Given the description of an element on the screen output the (x, y) to click on. 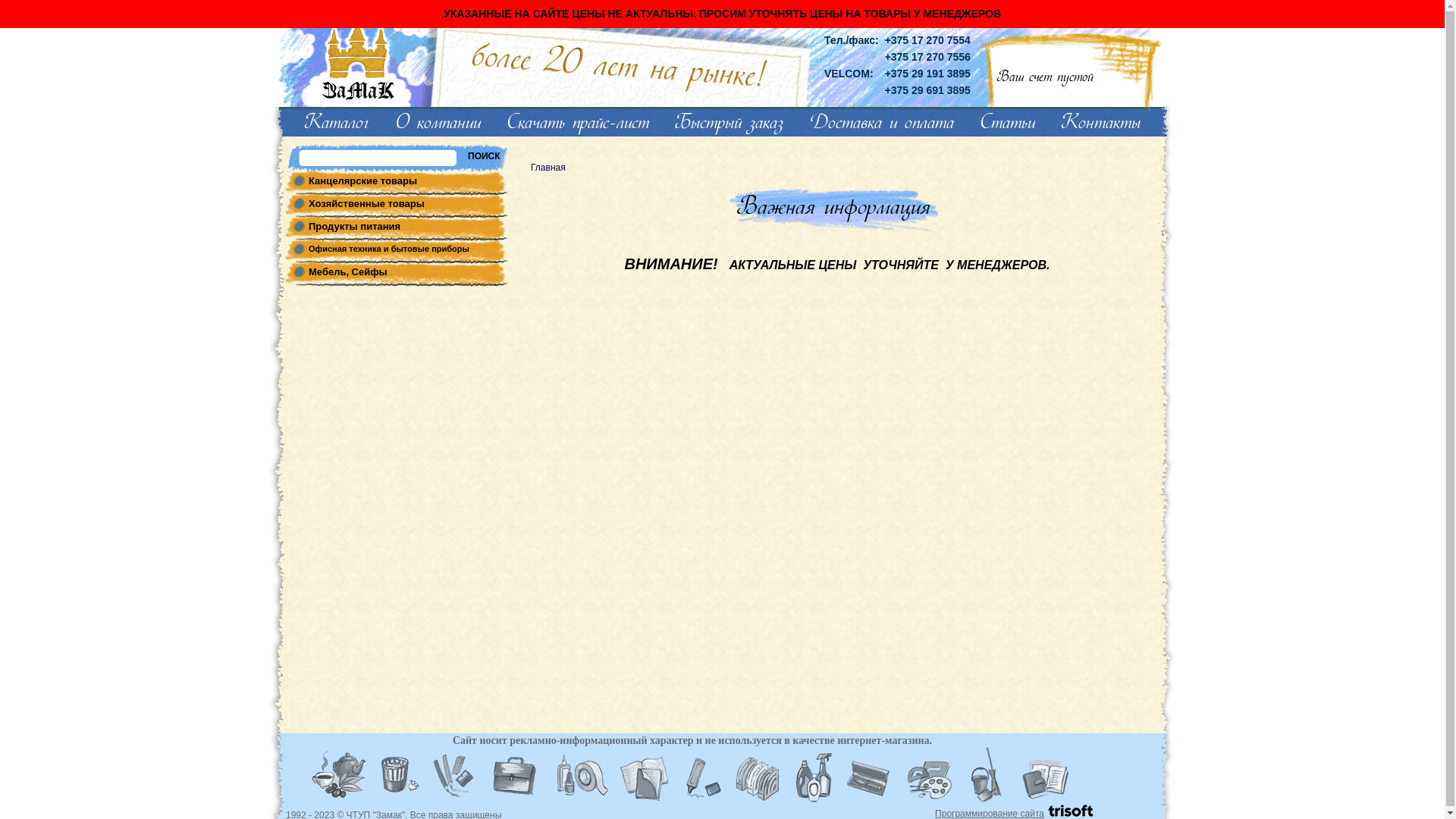
Prima.by Element type: hover (356, 56)
